Given the description of an element on the screen output the (x, y) to click on. 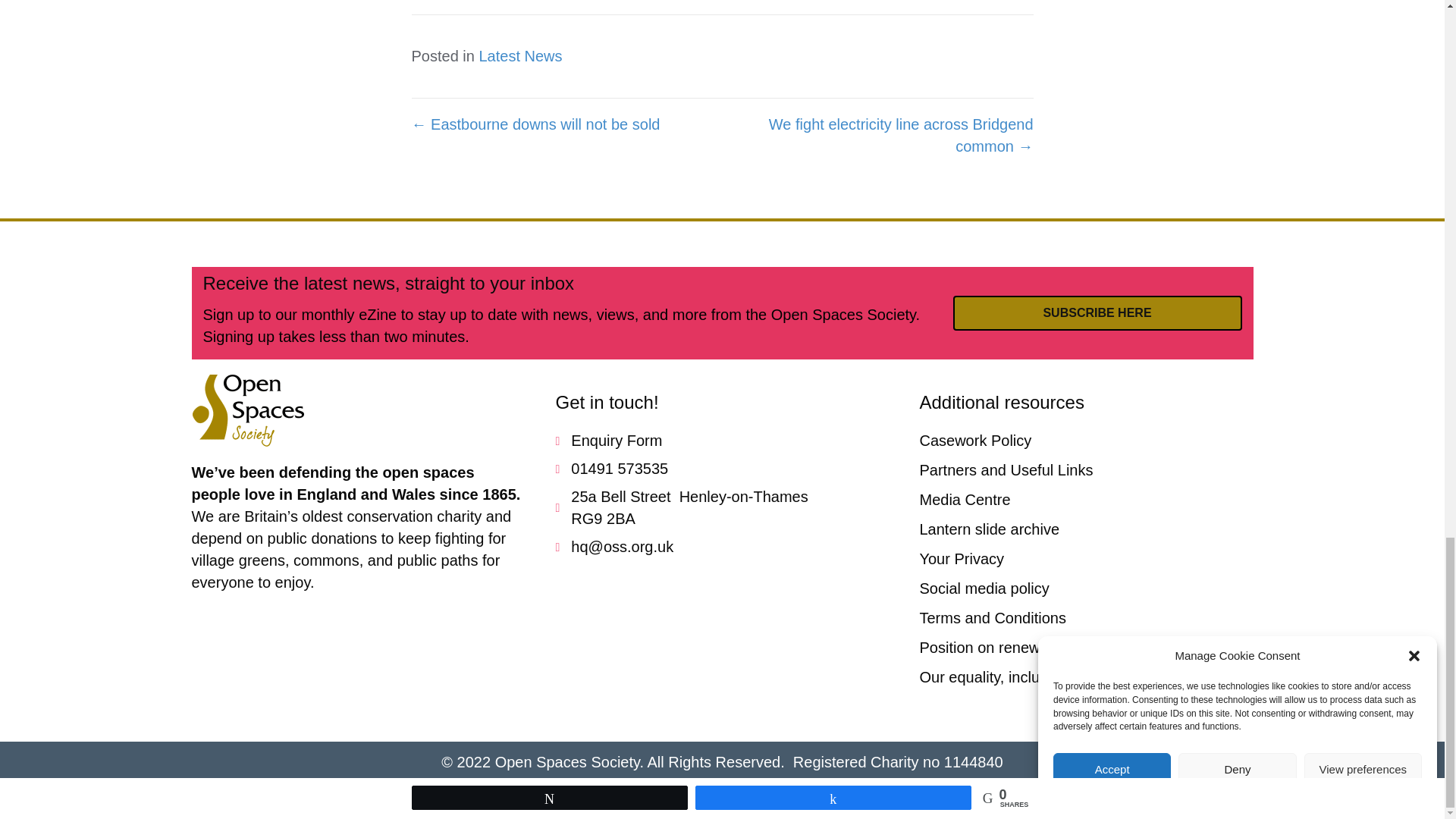
oss-logo (247, 410)
